Given the description of an element on the screen output the (x, y) to click on. 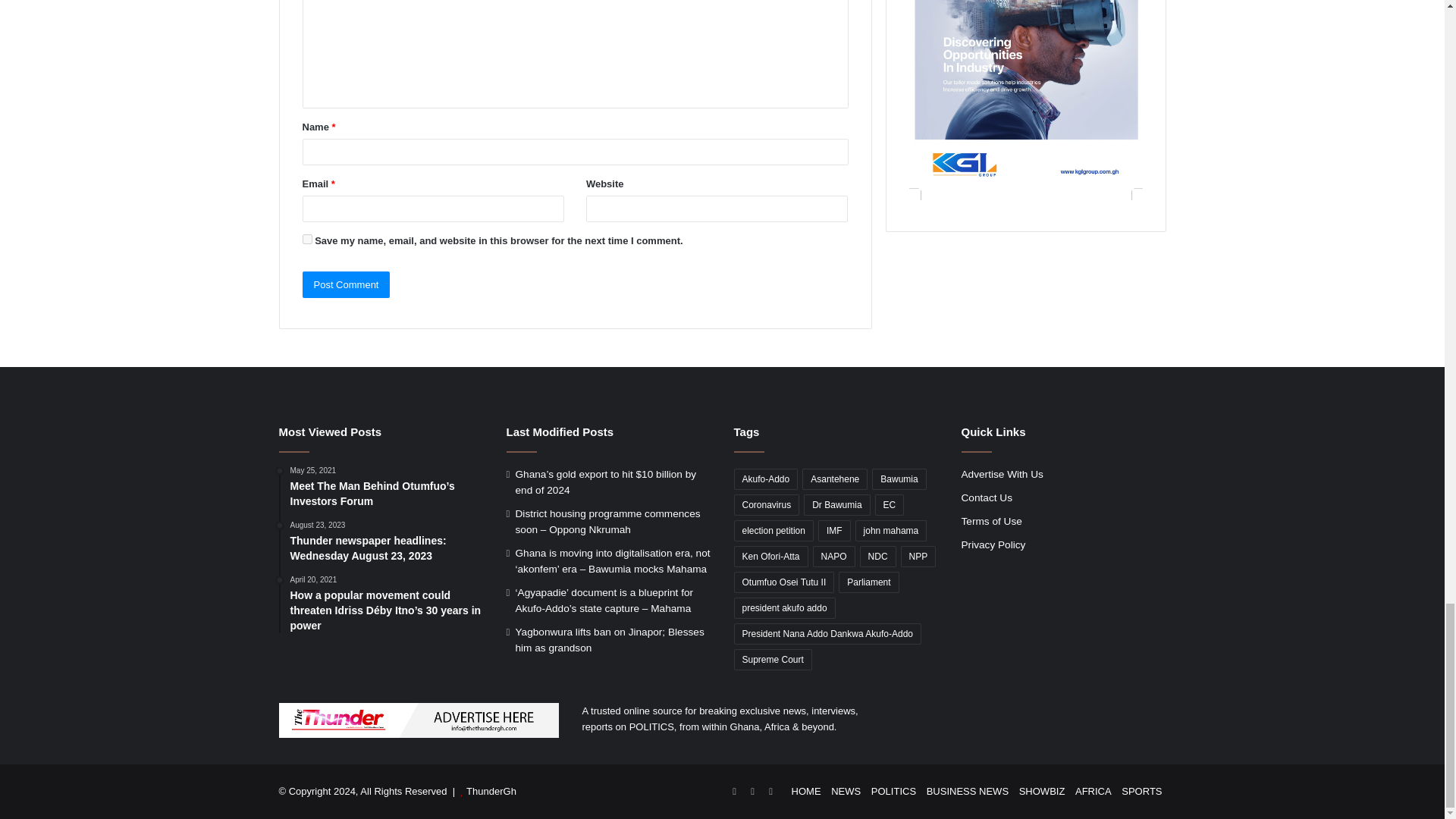
Post Comment (345, 284)
yes (306, 239)
